Given the description of an element on the screen output the (x, y) to click on. 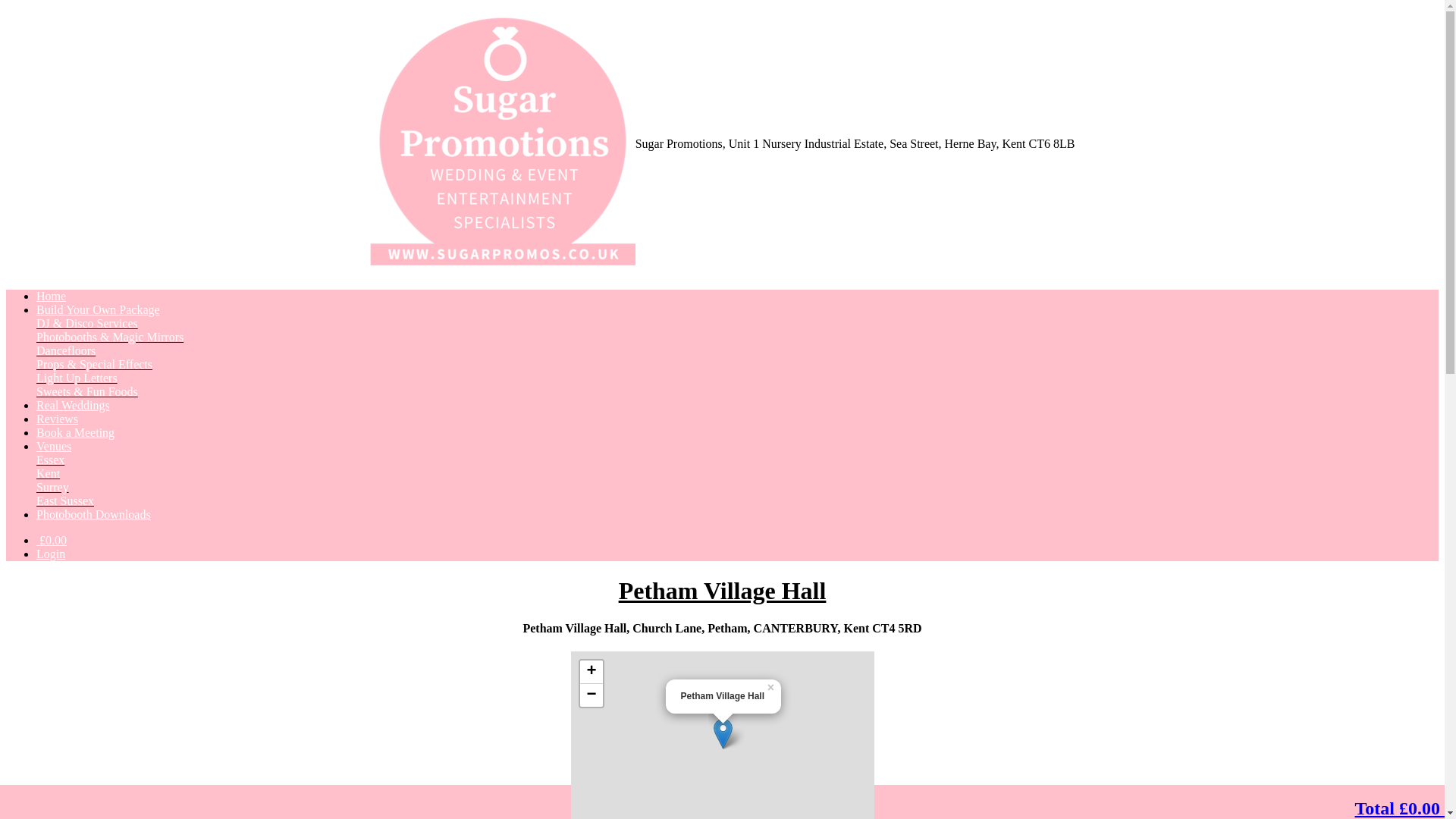
Zoom out (590, 694)
Login (50, 553)
Venues (53, 445)
East Sussex (65, 500)
Home (50, 295)
Surrey (52, 486)
Photobooth Downloads (93, 513)
Reviews (57, 418)
Book a Meeting (75, 431)
Essex (50, 459)
Dancefloors (66, 350)
Light Up Letters (76, 377)
Build Your Own Package (98, 309)
Zoom in (590, 671)
Kent (47, 472)
